Given the description of an element on the screen output the (x, y) to click on. 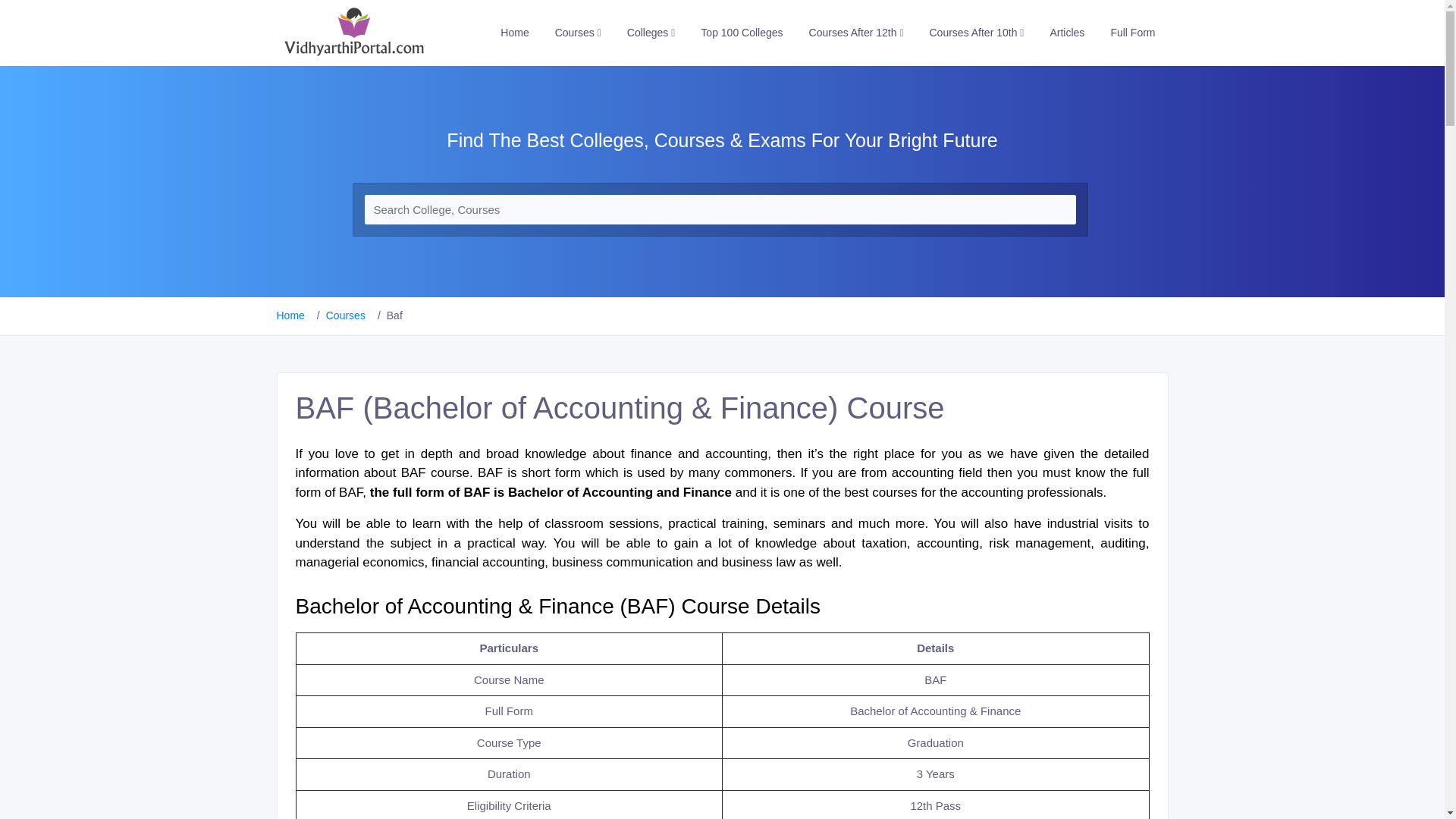
Home (514, 32)
Courses (577, 32)
Colleges (651, 32)
